Given the description of an element on the screen output the (x, y) to click on. 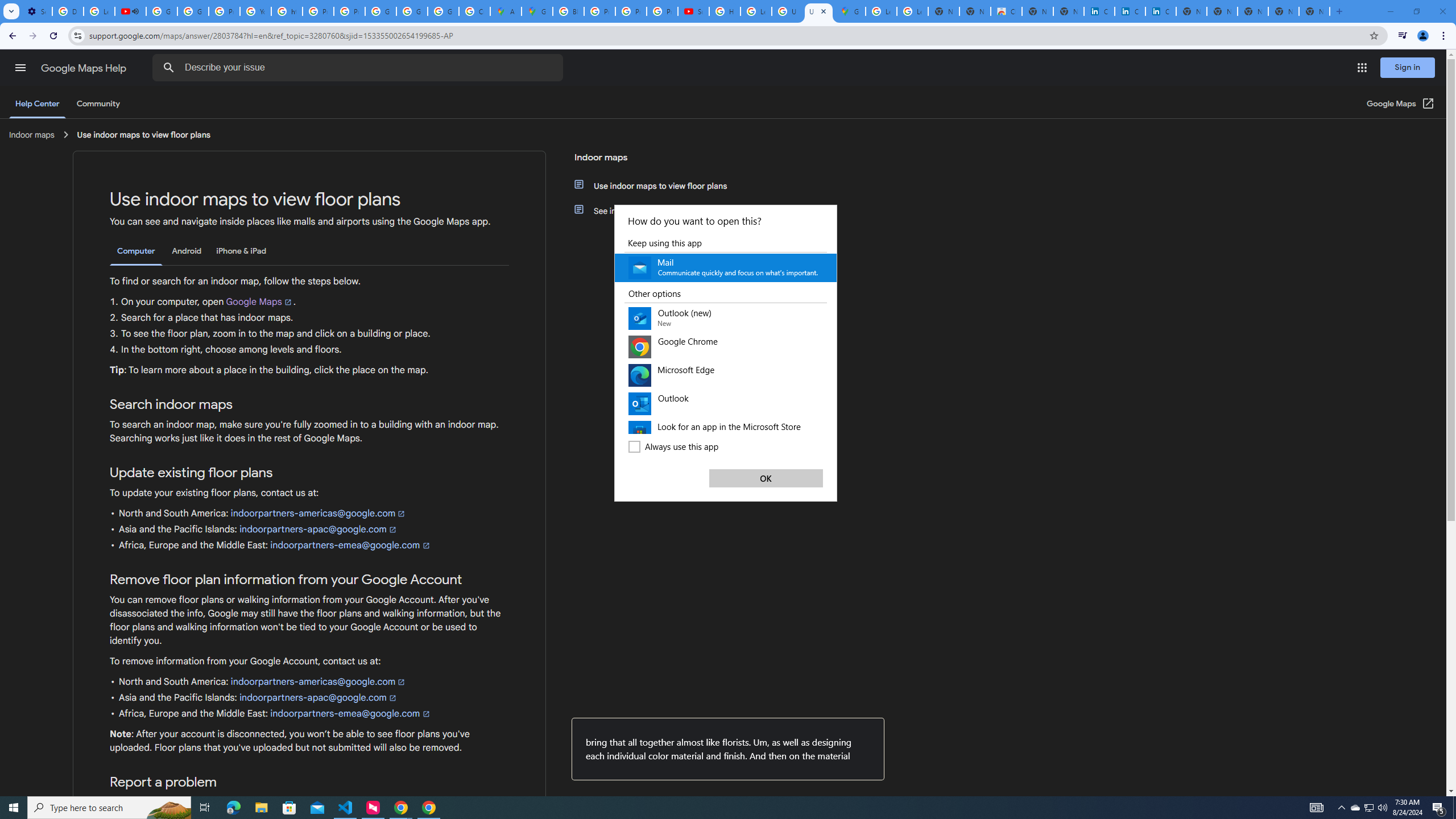
Mail (725, 267)
Visual Studio Code - 1 running window (345, 807)
Line down (832, 424)
indoorpartners-emea@google.com (350, 713)
Outlook (new) (725, 318)
AutomationID: 4105 (1316, 807)
Indoor maps (656, 161)
Android (186, 250)
Look for an app in the Microsoft Store (725, 431)
Delete photos & videos - Computer - Google Photos Help (67, 11)
